Given the description of an element on the screen output the (x, y) to click on. 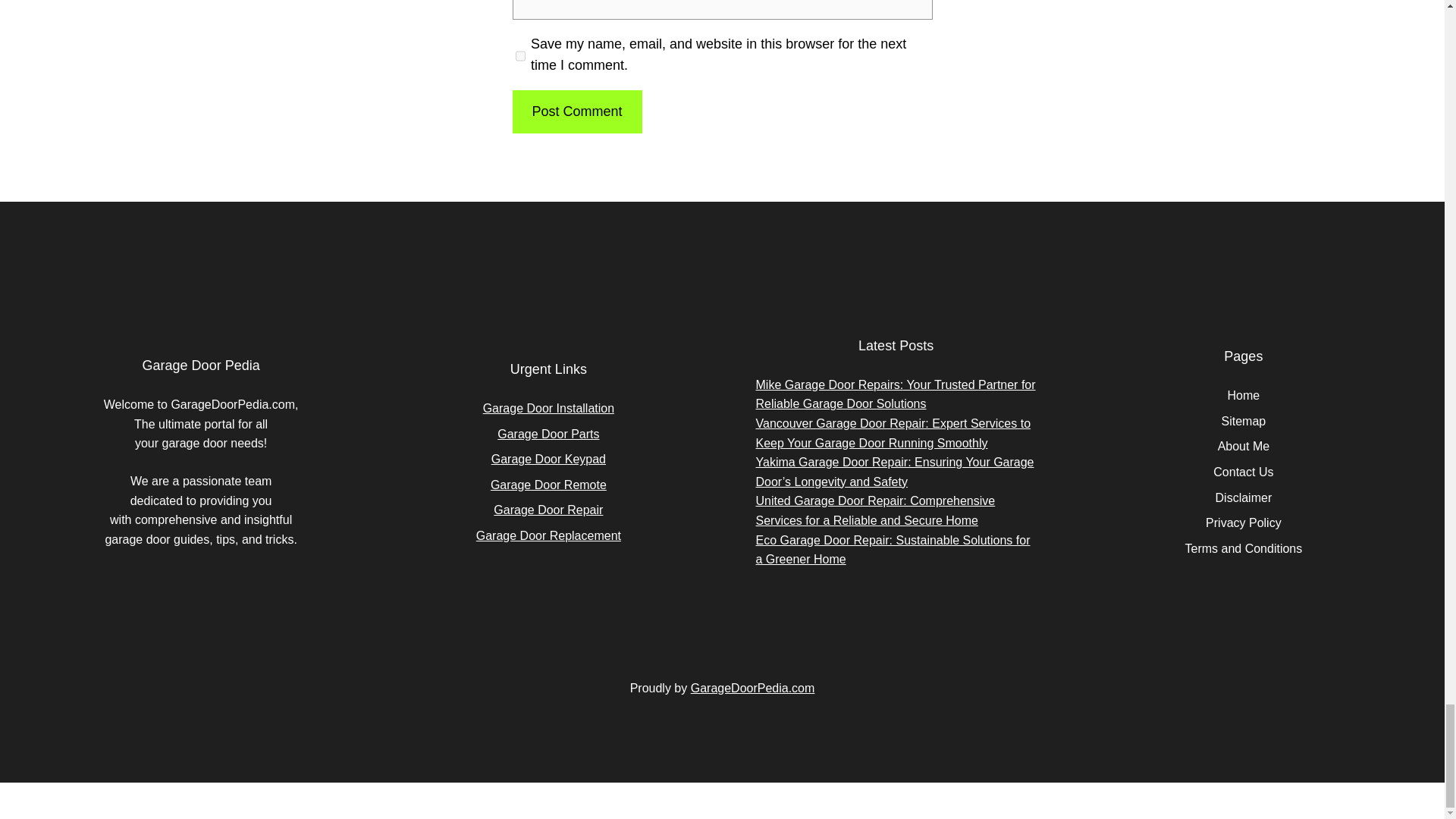
Garage Door Repair (547, 509)
Garage Door Installation (548, 408)
Garage Door Keypad (548, 459)
Garage Door Parts (547, 433)
Post Comment (577, 111)
Garage Door Replacement (548, 535)
Garage Door Remote (548, 484)
Post Comment (577, 111)
